Given the description of an element on the screen output the (x, y) to click on. 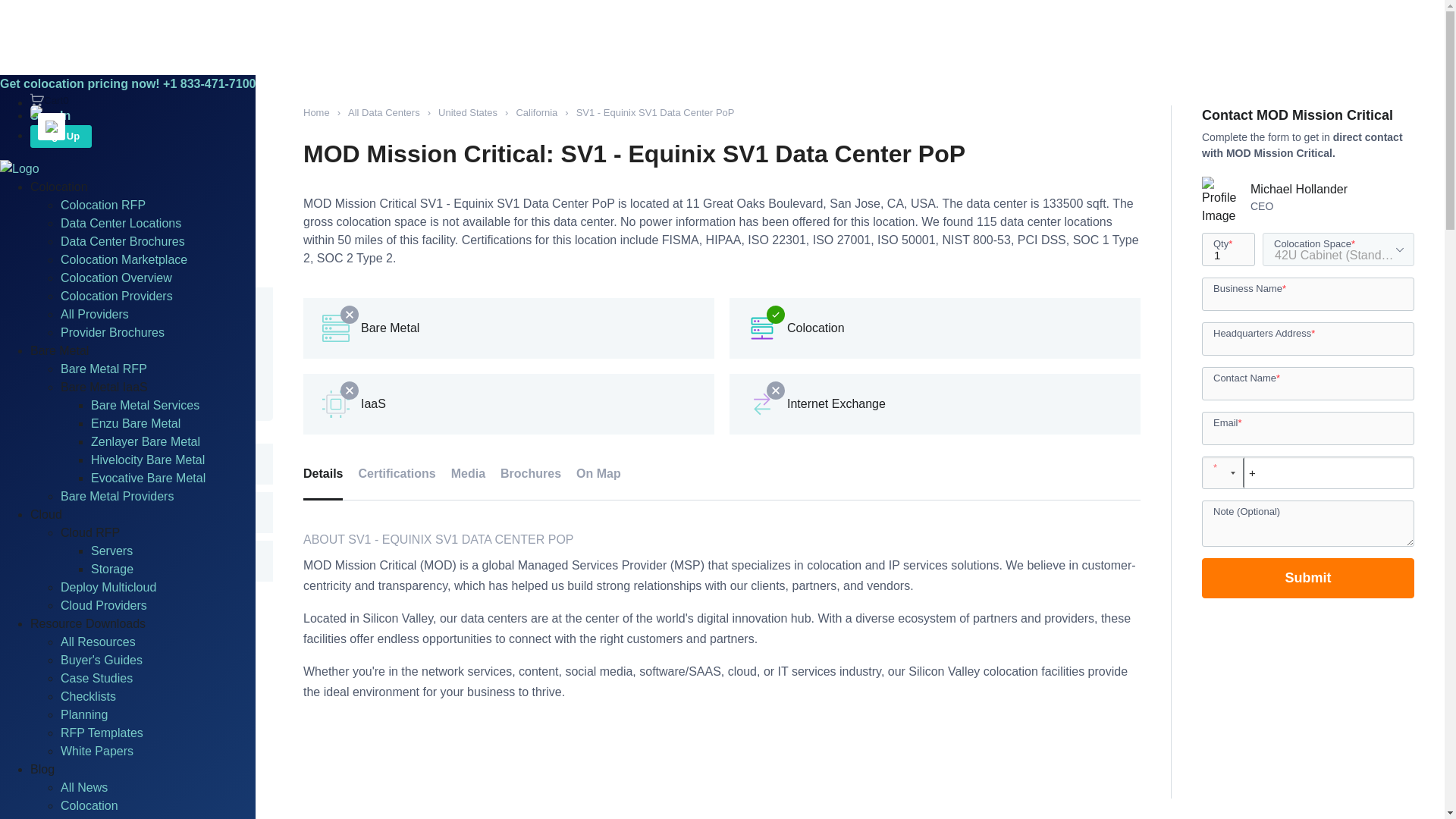
Zenlayer Bare Metal (145, 440)
Bare Metal RFP (104, 368)
Colocation Overview (116, 277)
Colocation Marketplace (124, 259)
Data Center Brochures (122, 241)
Evocative Bare Metal (147, 477)
Hivelocity Bare Metal (147, 459)
Case Studies (49, 100)
Storage (96, 677)
